Given the description of an element on the screen output the (x, y) to click on. 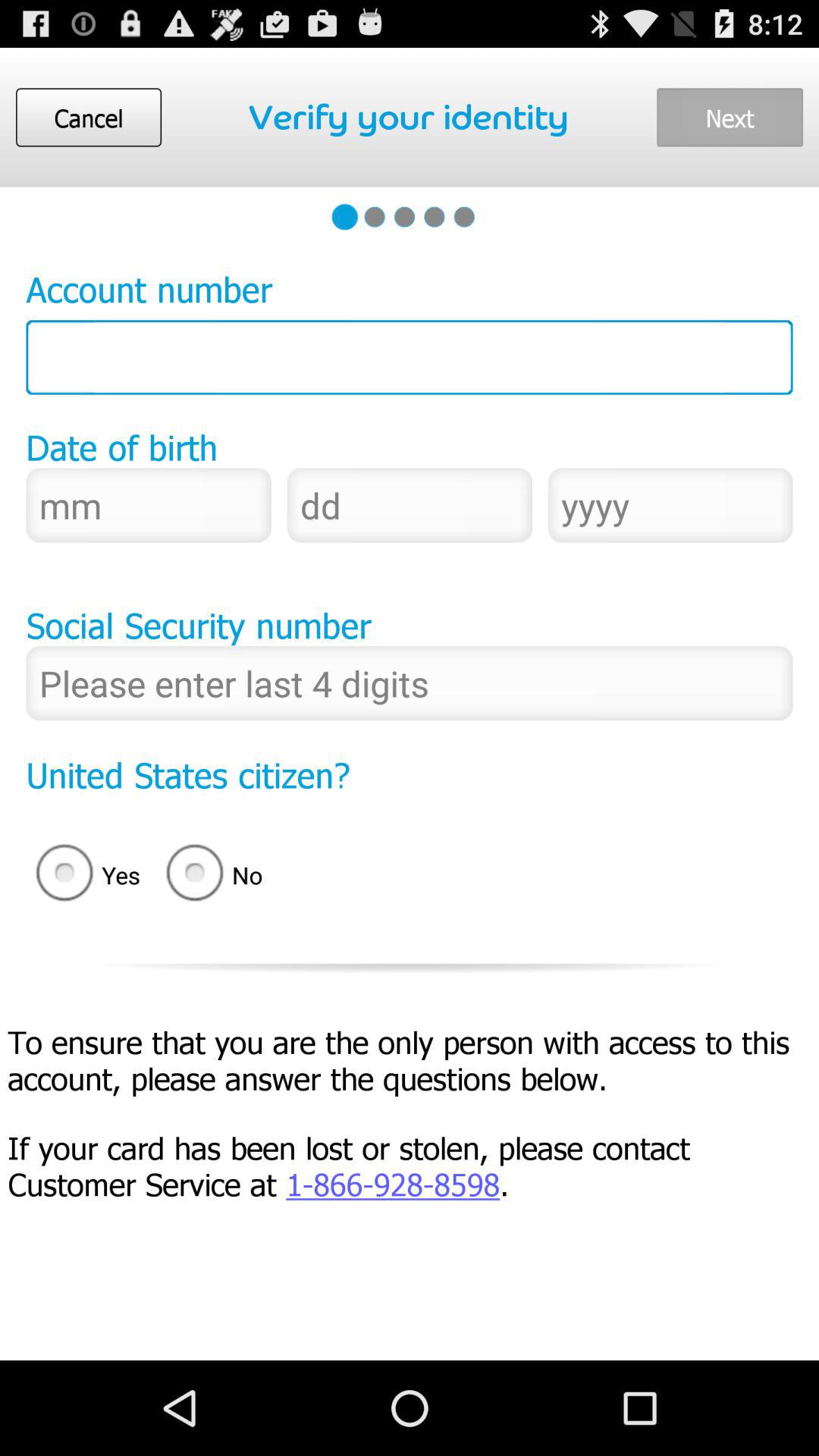
click no item (219, 875)
